Given the description of an element on the screen output the (x, y) to click on. 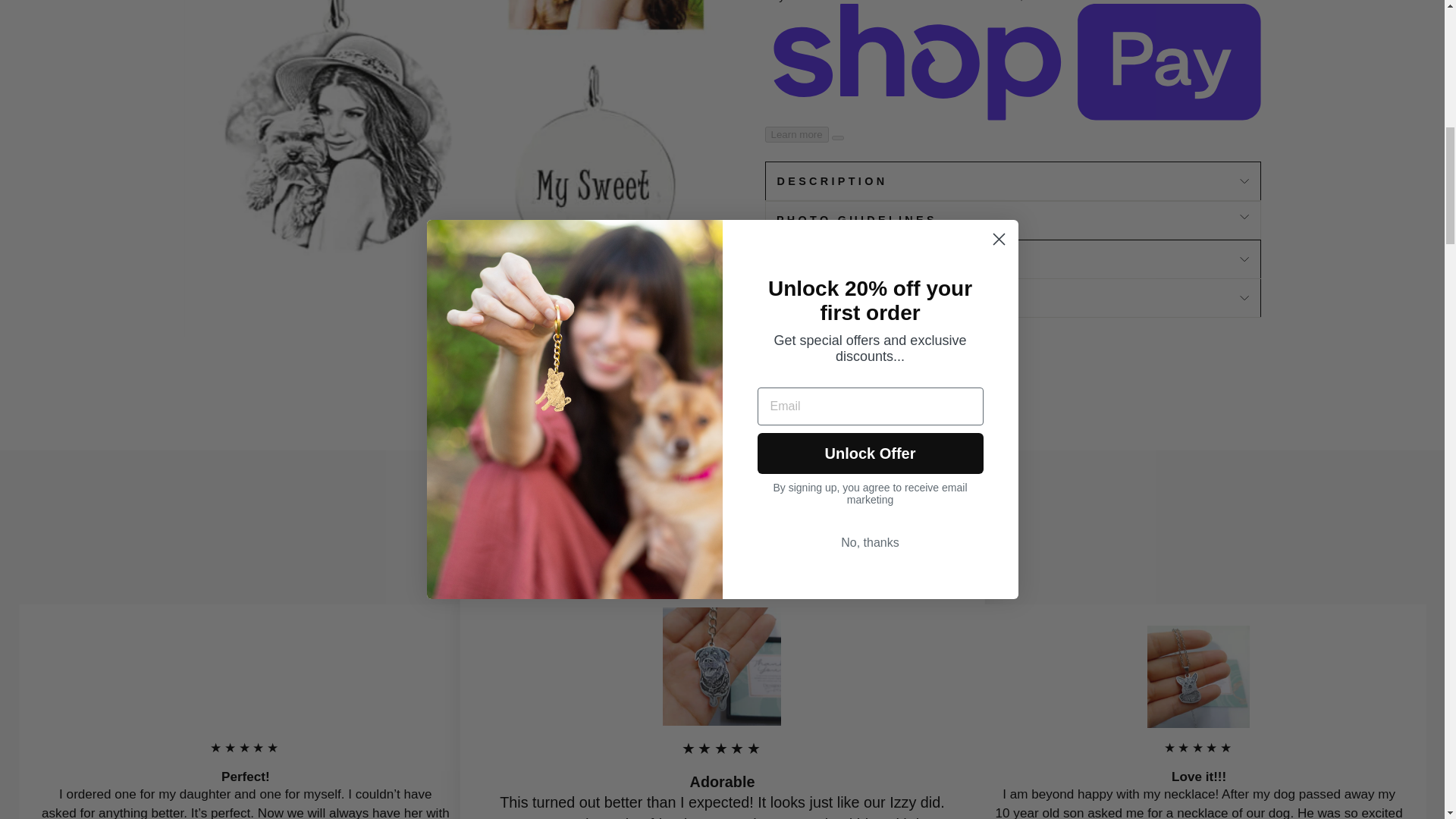
SHIPPING INFORMATION (1012, 258)
DESCRIPTION (1012, 180)
ASK A QUESTION (1012, 297)
